Given the description of an element on the screen output the (x, y) to click on. 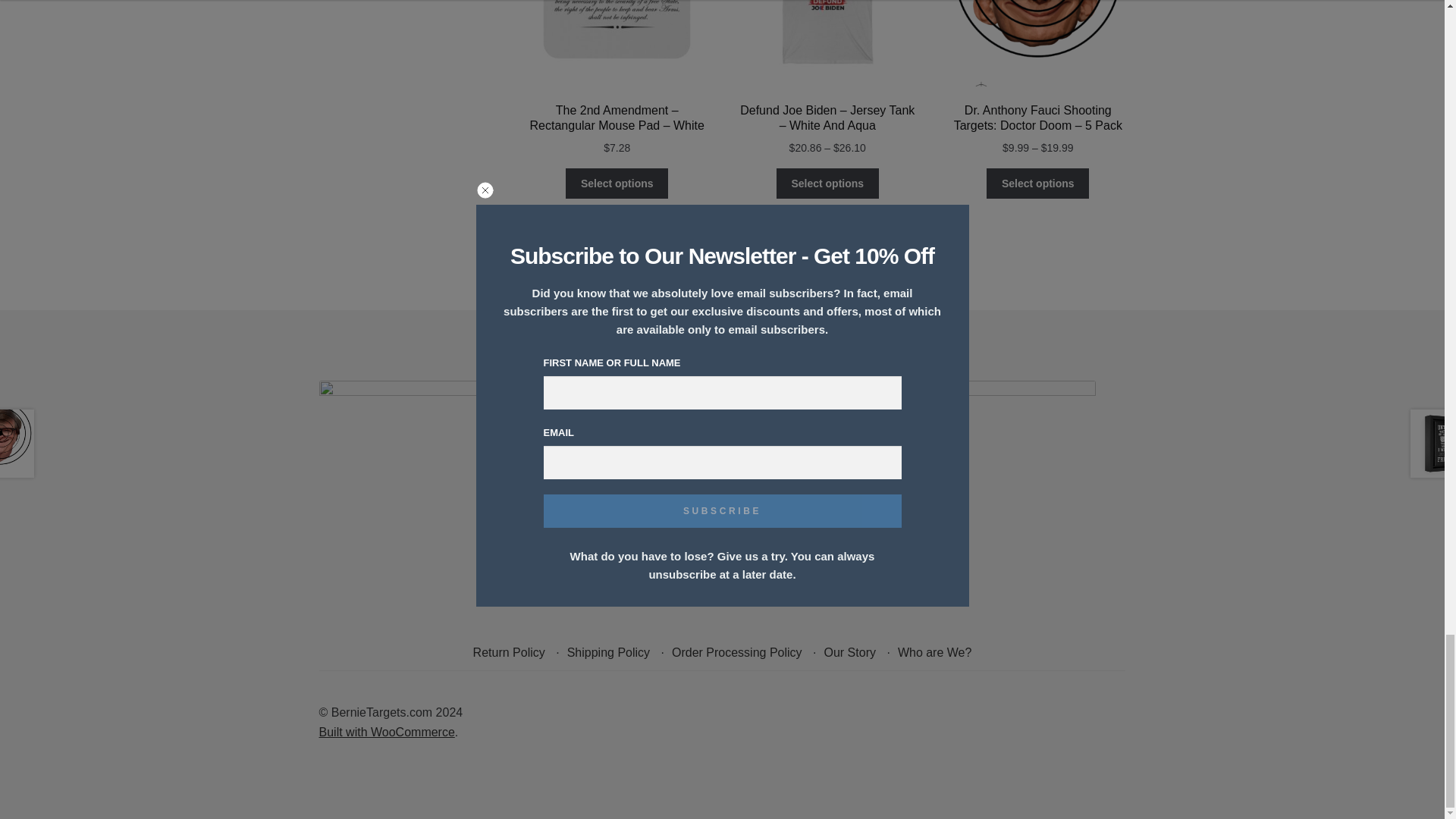
WooCommerce - The Best eCommerce Platform for WordPress (386, 731)
